Given the description of an element on the screen output the (x, y) to click on. 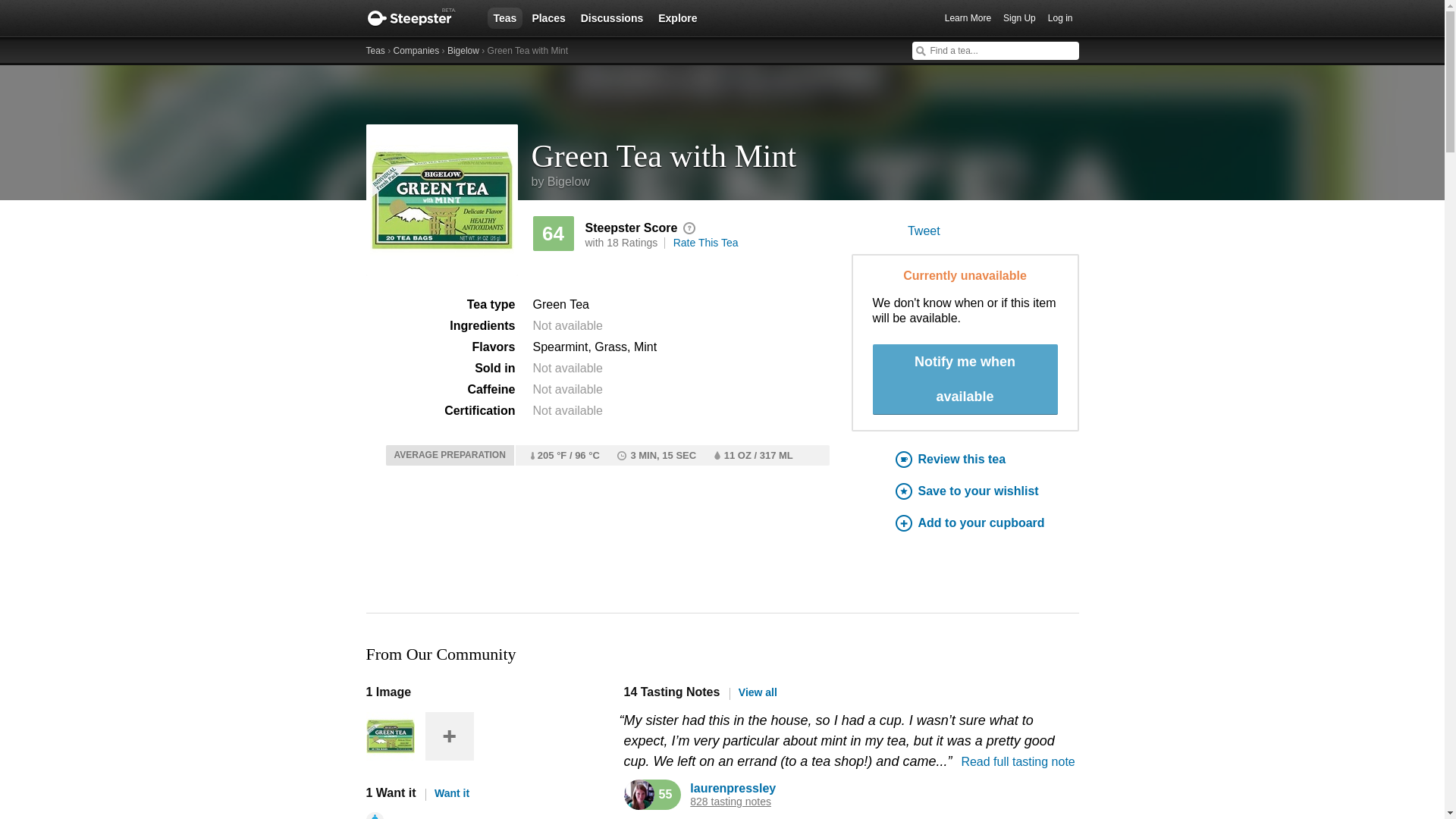
Green Tea (560, 304)
Rate This Tea (705, 242)
Bigelow (462, 50)
Save to your wishlist (986, 490)
Teas (504, 17)
Teas (374, 50)
Log in (1060, 18)
Explore (677, 17)
Learn More (968, 18)
Want it (446, 793)
Notify me when available (964, 378)
Review this tea (986, 458)
Green Tea with Mint (804, 150)
Tweet (923, 230)
Companies (416, 50)
